Given the description of an element on the screen output the (x, y) to click on. 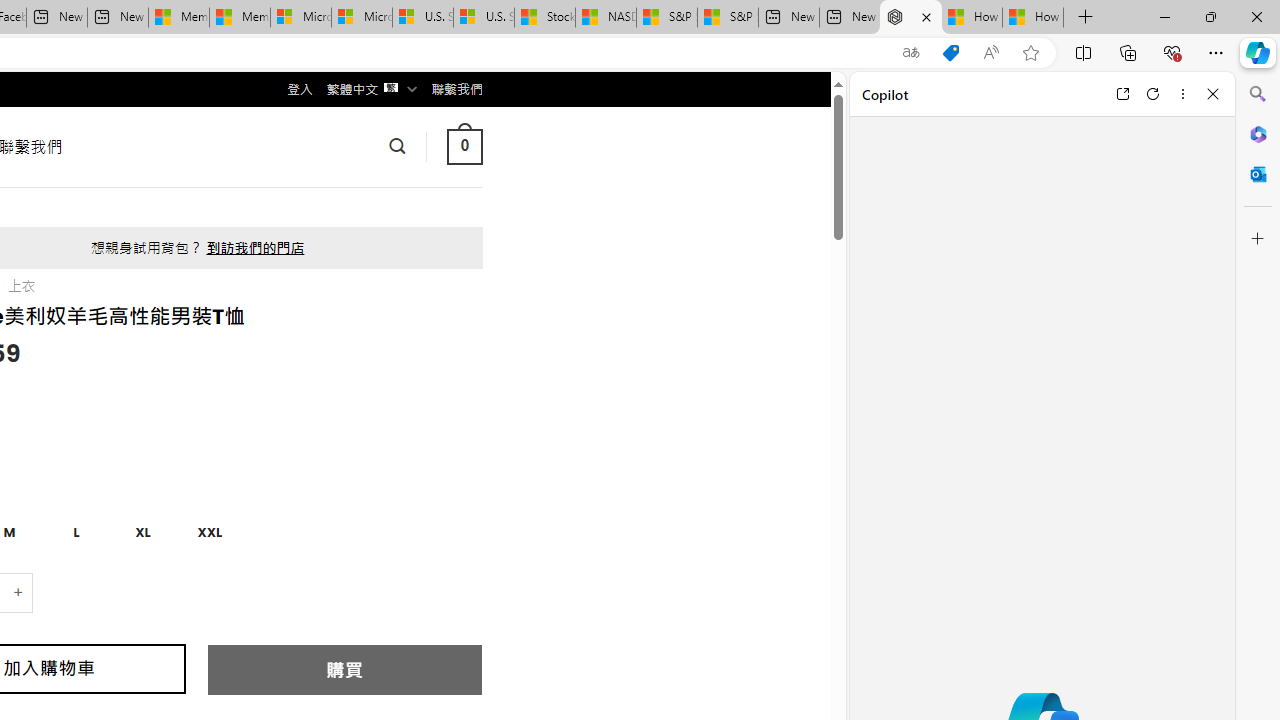
  0   (464, 146)
More options (1182, 93)
Customize (1258, 239)
How to Use a Monitor With Your Closed Laptop (1033, 17)
